Given the description of an element on the screen output the (x, y) to click on. 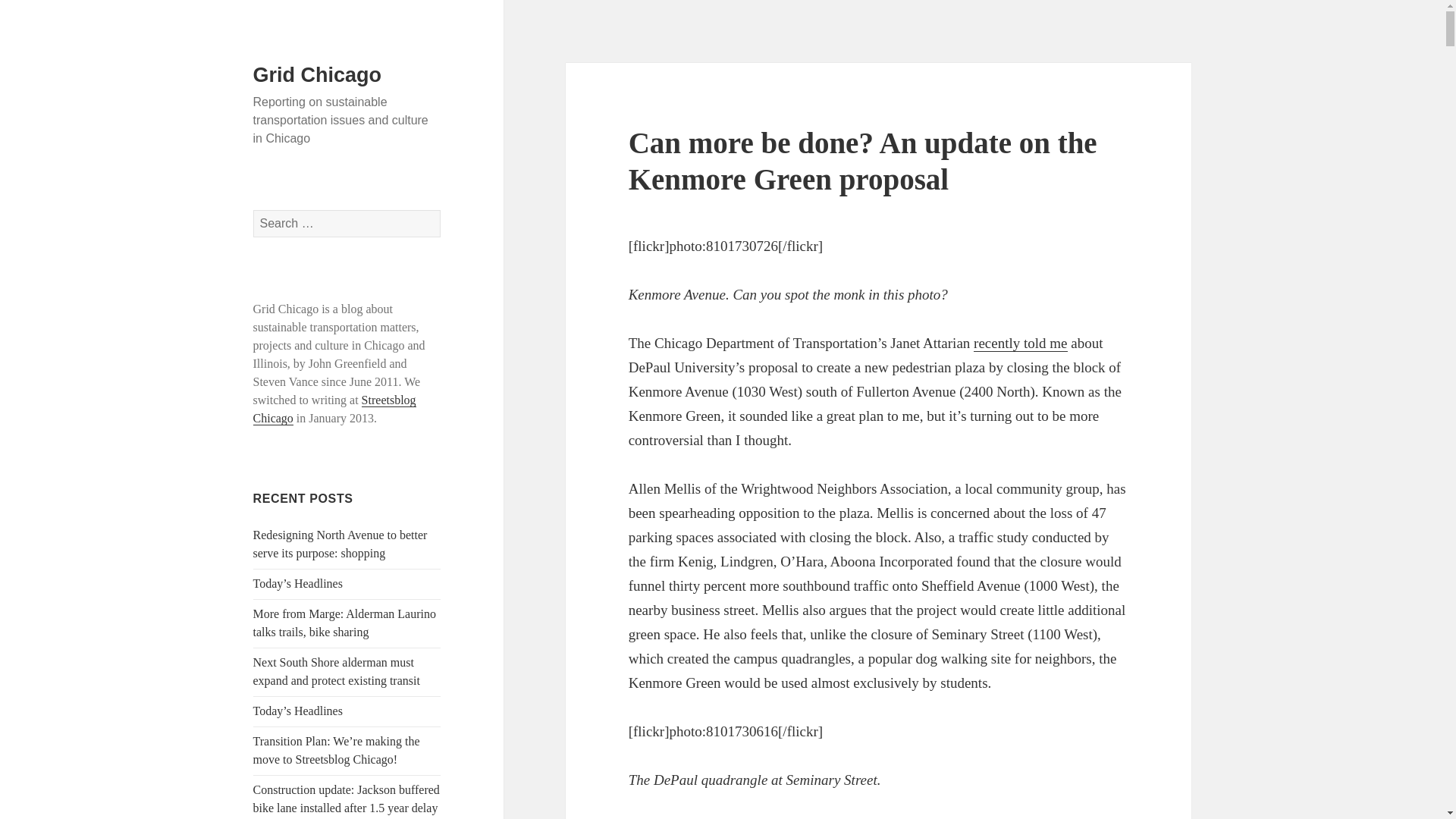
More from Marge: Alderman Laurino talks trails, bike sharing (344, 622)
Grid Chicago (317, 74)
recently told me (1020, 343)
Streetsblog Chicago (334, 409)
